Given the description of an element on the screen output the (x, y) to click on. 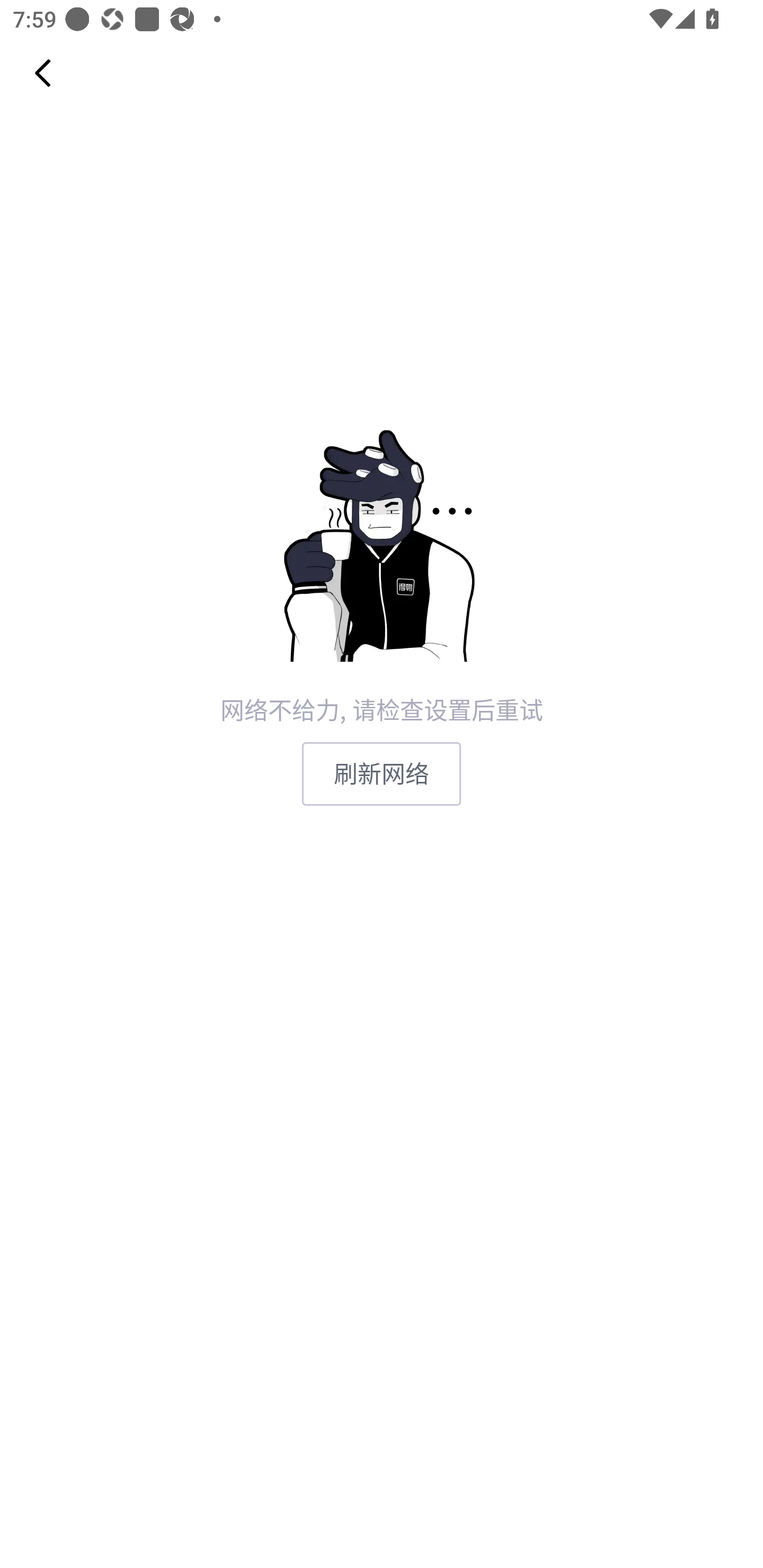
刷新网络 (381, 773)
